Given the description of an element on the screen output the (x, y) to click on. 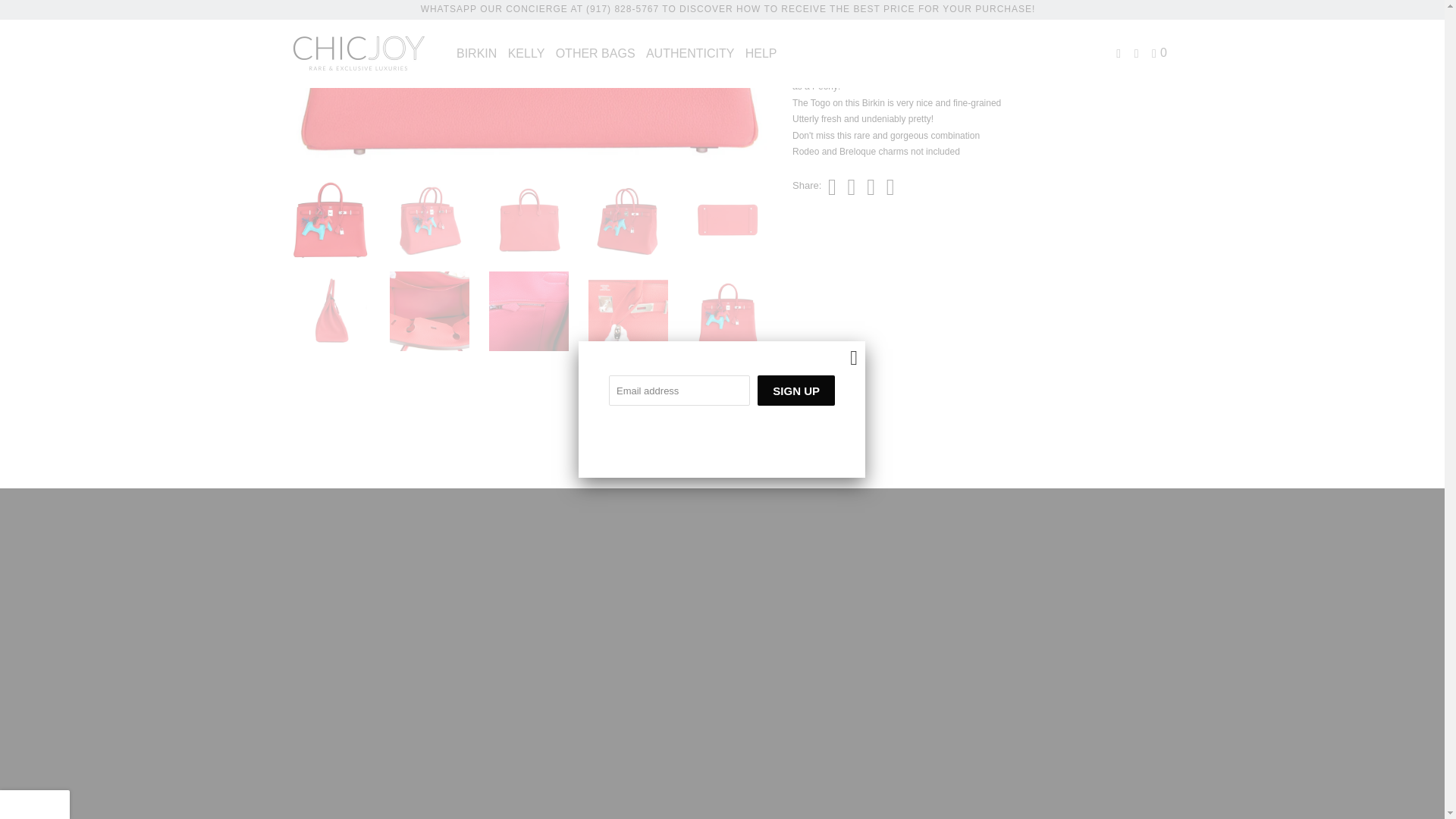
Visa (865, 762)
Sign Up (795, 47)
Hermes Rouge Pivoine 40cm Togo Birkin Bag Palladium Luscious (140, 84)
Mastercard (782, 762)
Hermes Rouge Pivoine 40cm Togo Birkin Bag Palladium Luscious (529, 84)
PayPal (824, 762)
American Express (697, 762)
Discover (740, 762)
